Given the description of an element on the screen output the (x, y) to click on. 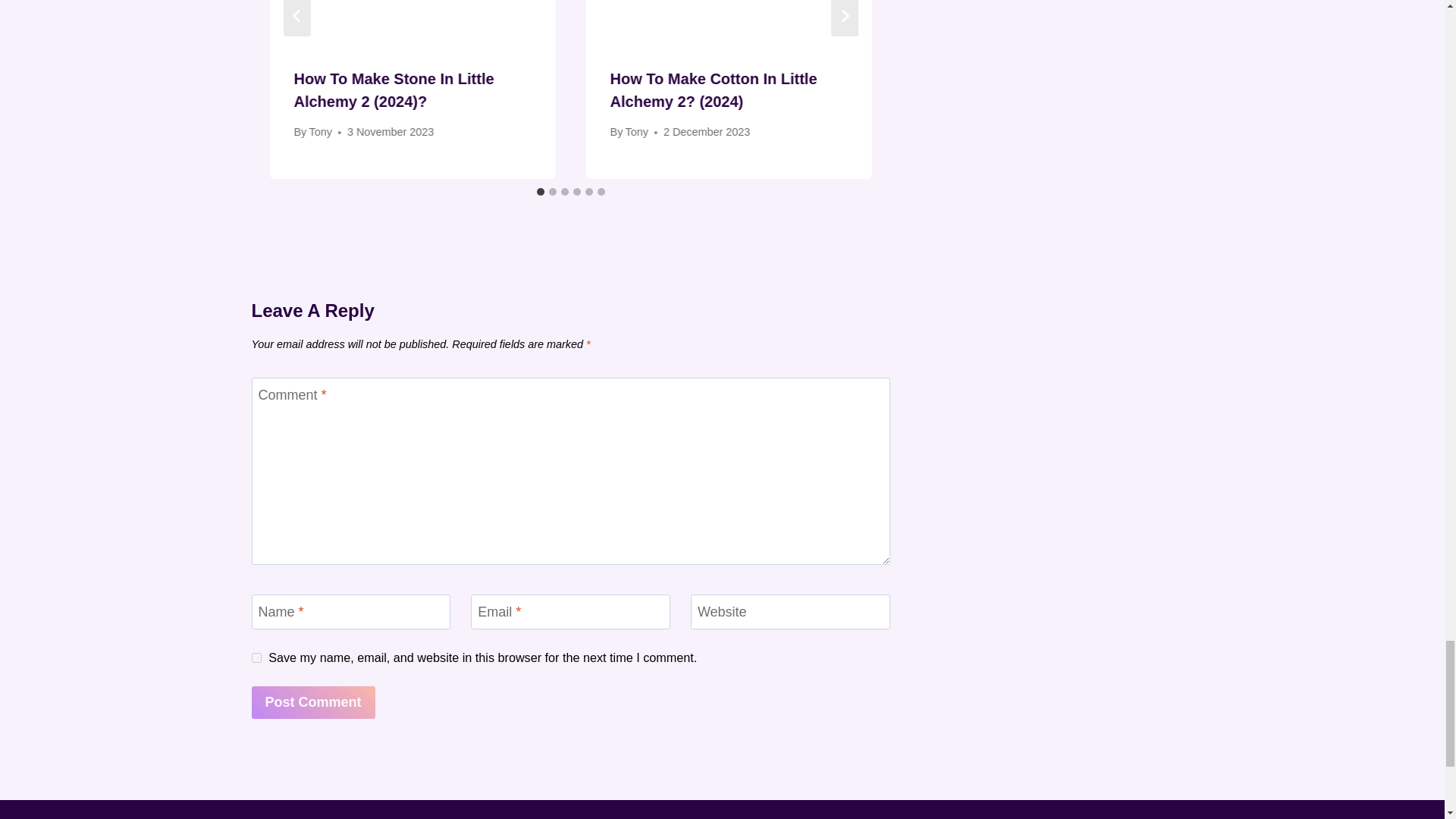
yes (256, 657)
Post Comment (313, 702)
